Given the description of an element on the screen output the (x, y) to click on. 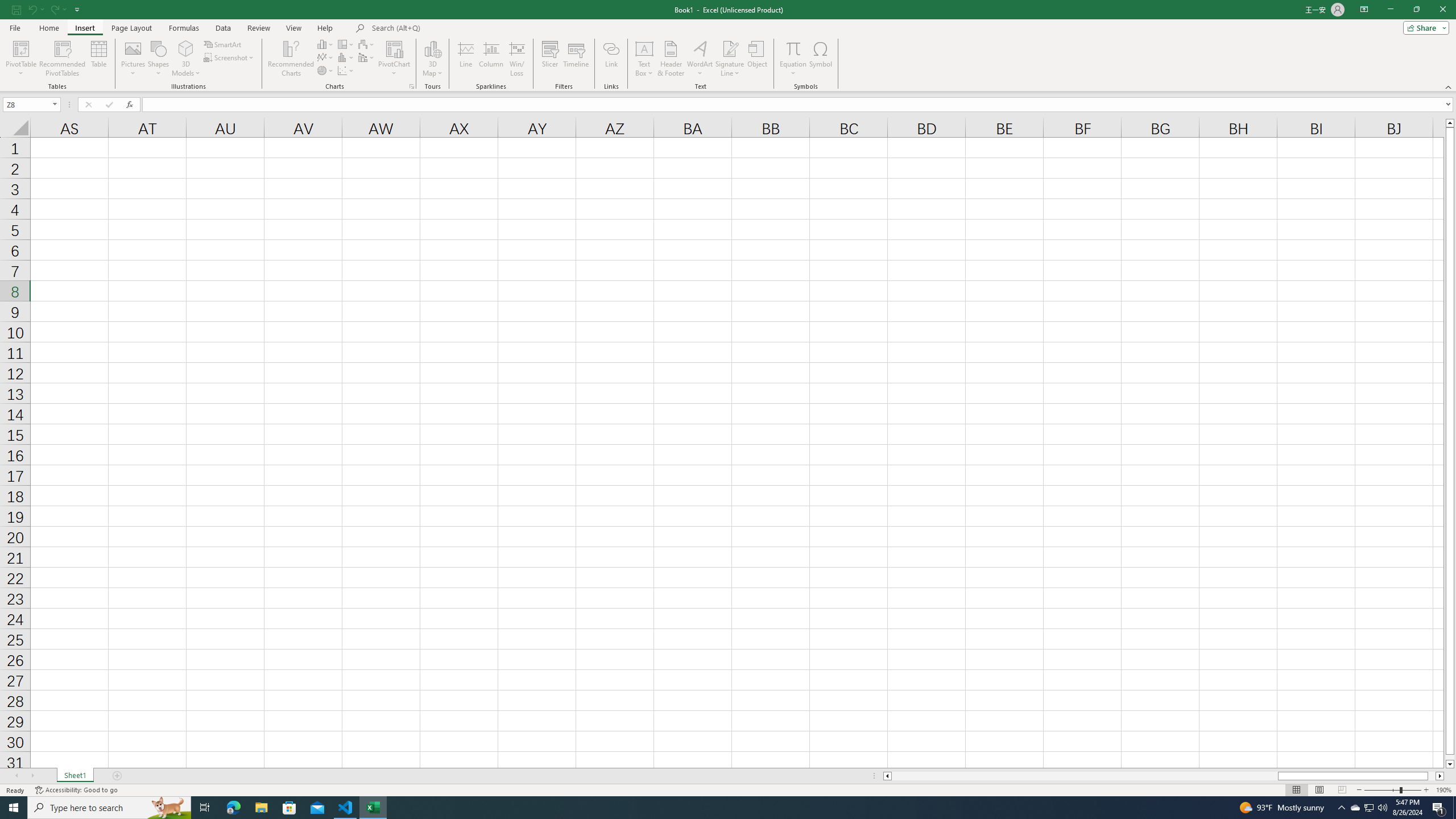
Insert Column or Bar Chart (325, 44)
SmartArt... (223, 44)
Recommended Charts (411, 85)
3D Map (432, 48)
Restore Down (1416, 9)
